Given the description of an element on the screen output the (x, y) to click on. 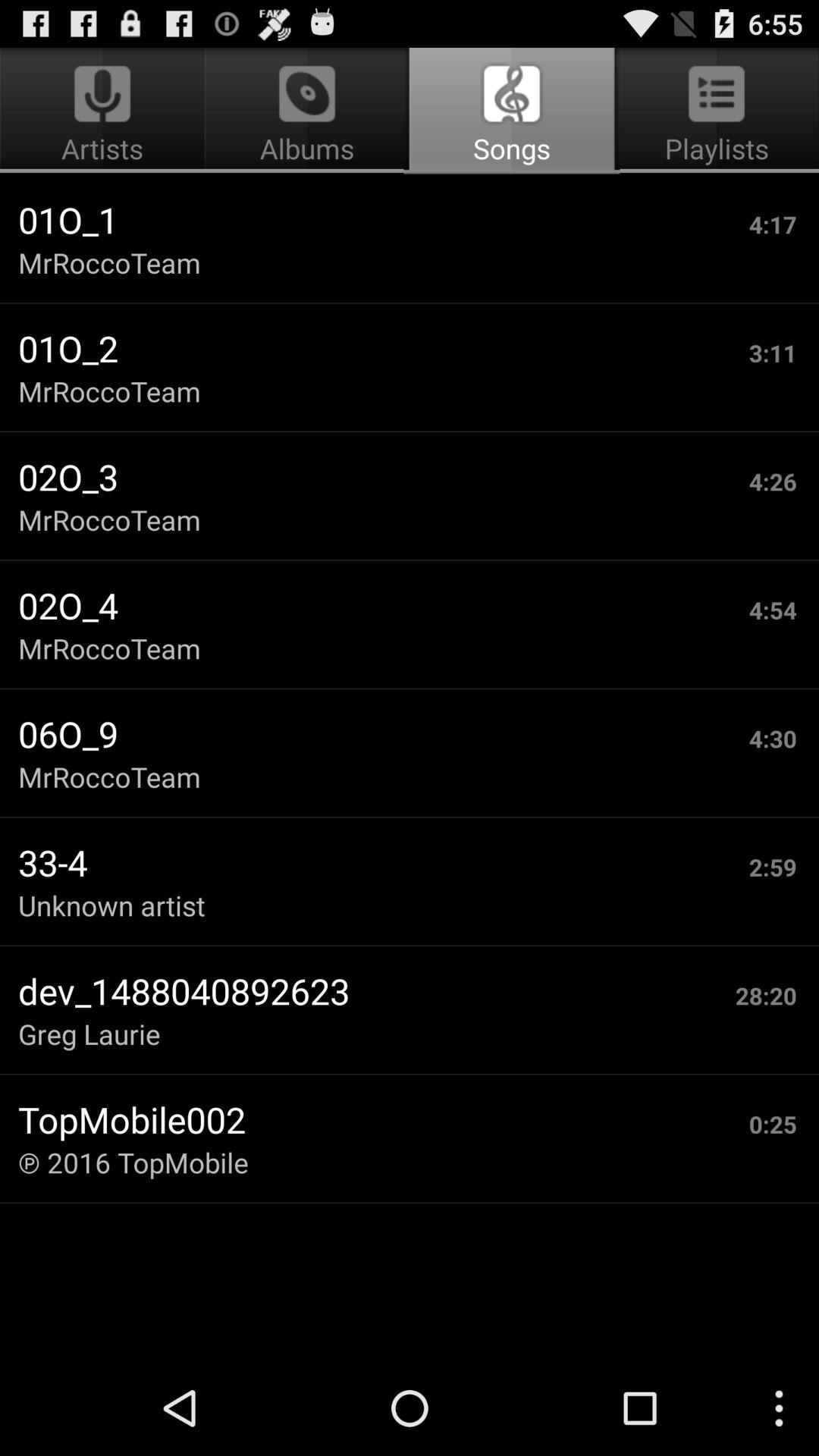
turn on artists at the top left corner (105, 111)
